Given the description of an element on the screen output the (x, y) to click on. 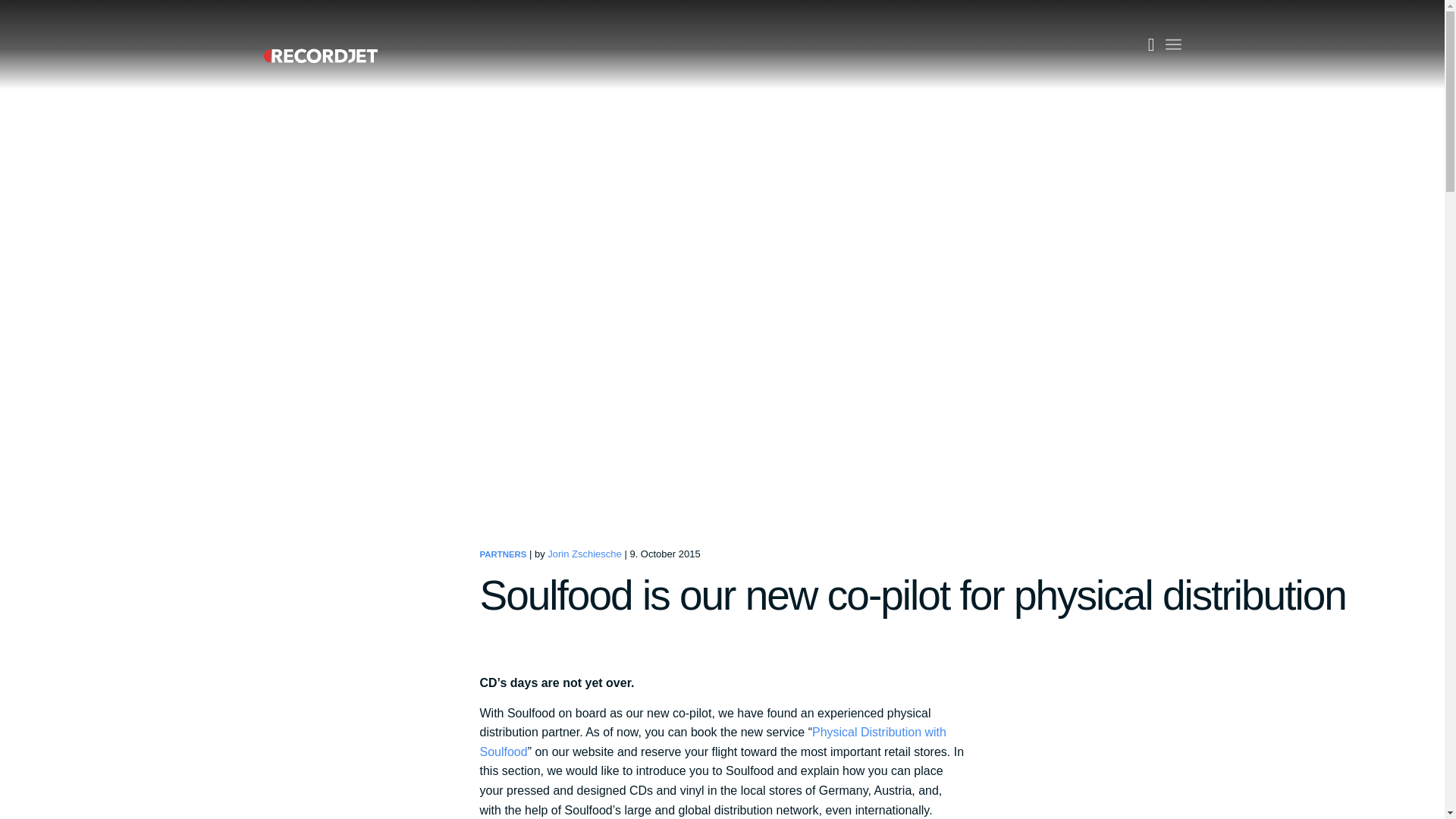
post vonJorin Zschiesche (584, 553)
Jorin Zschiesche (584, 553)
PARTNERS (502, 553)
View all posts in Partners (502, 553)
Physical Distribution with Soulfood (711, 741)
